Given the description of an element on the screen output the (x, y) to click on. 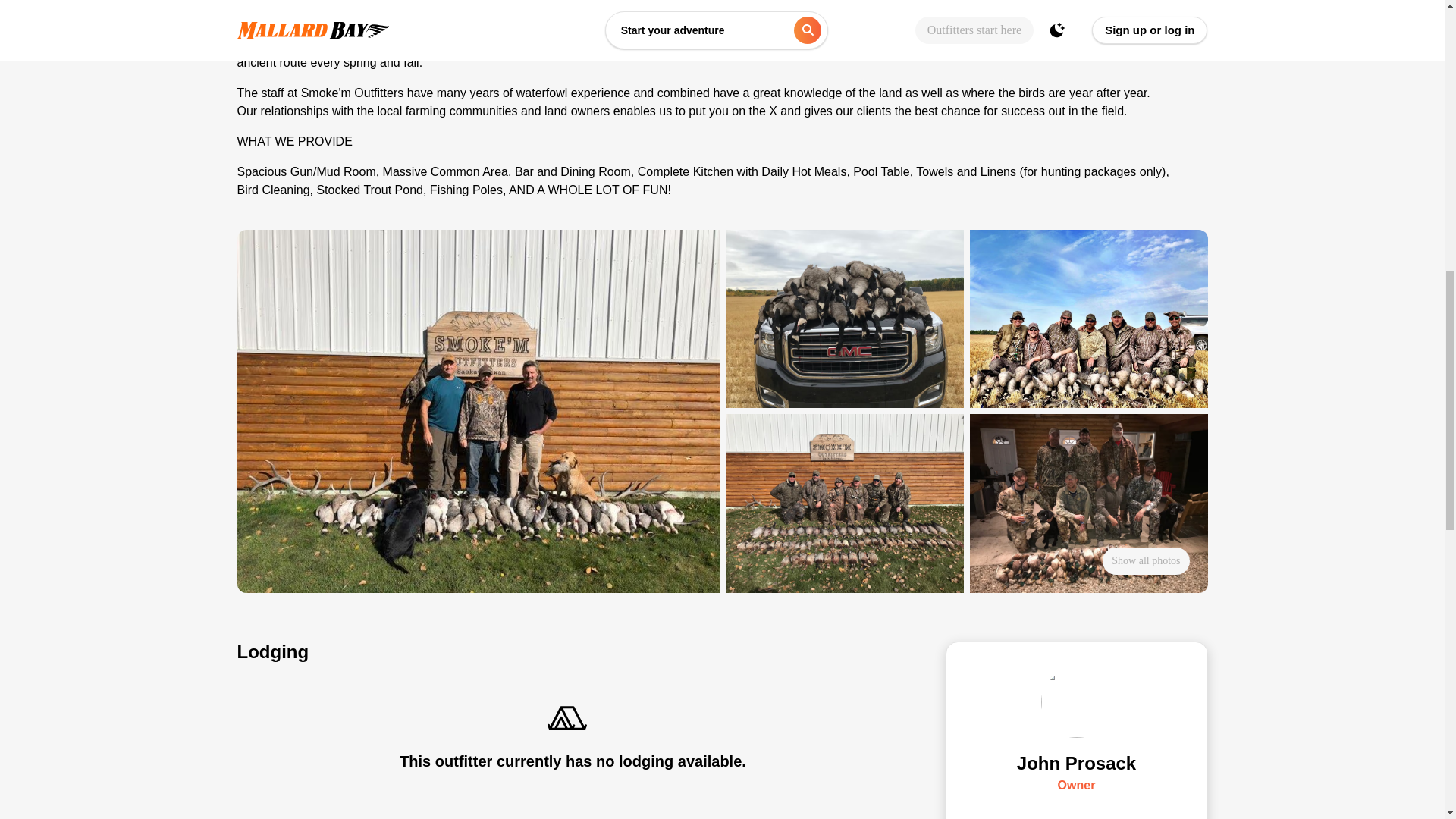
Show all photos (1145, 560)
